Given the description of an element on the screen output the (x, y) to click on. 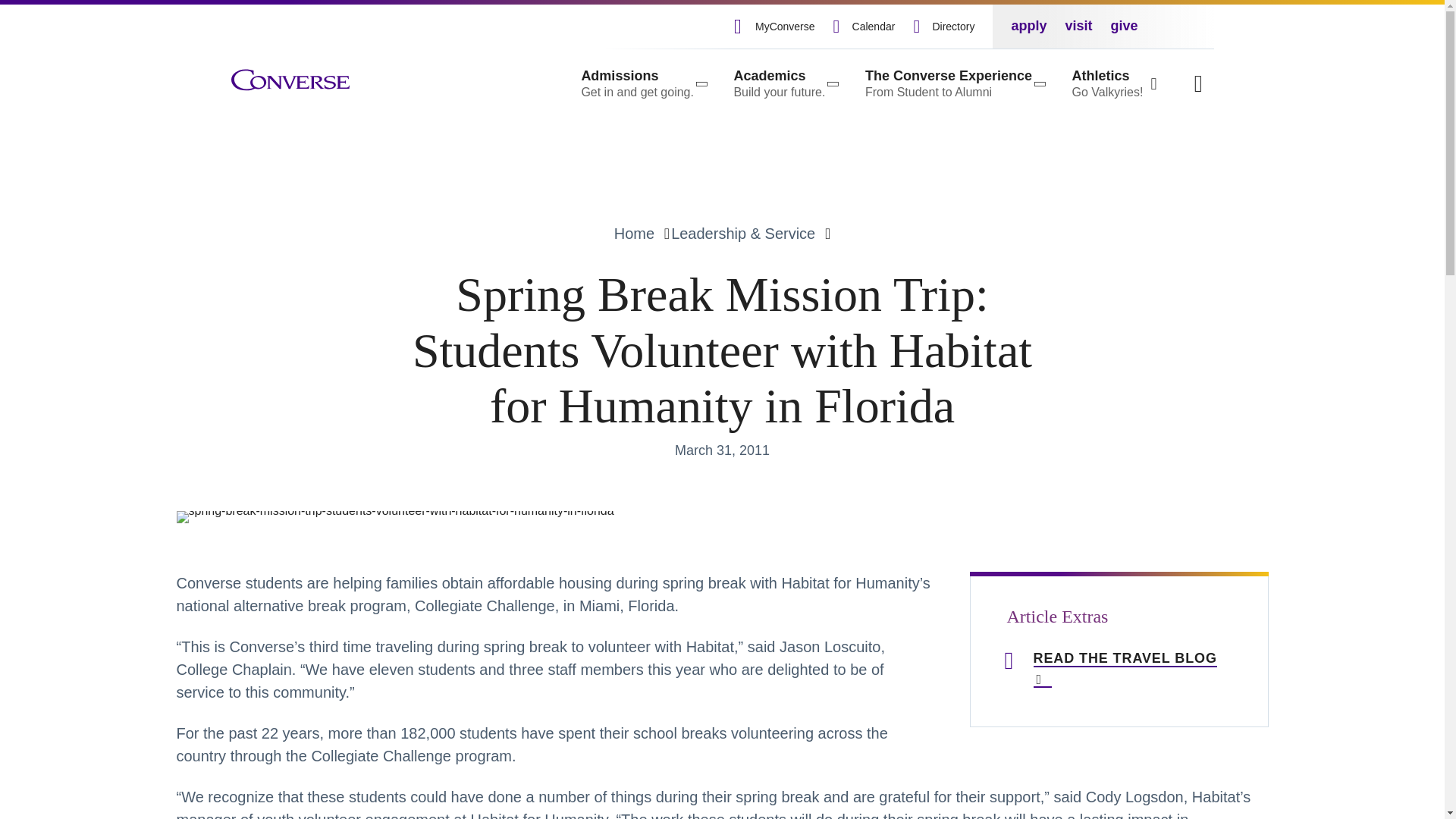
Converse University (289, 80)
Toggle Sub-Menu (784, 83)
Toggle Sub-Menu (953, 83)
Toggle Sub-Menu (642, 83)
Open Site Search (784, 83)
